Given the description of an element on the screen output the (x, y) to click on. 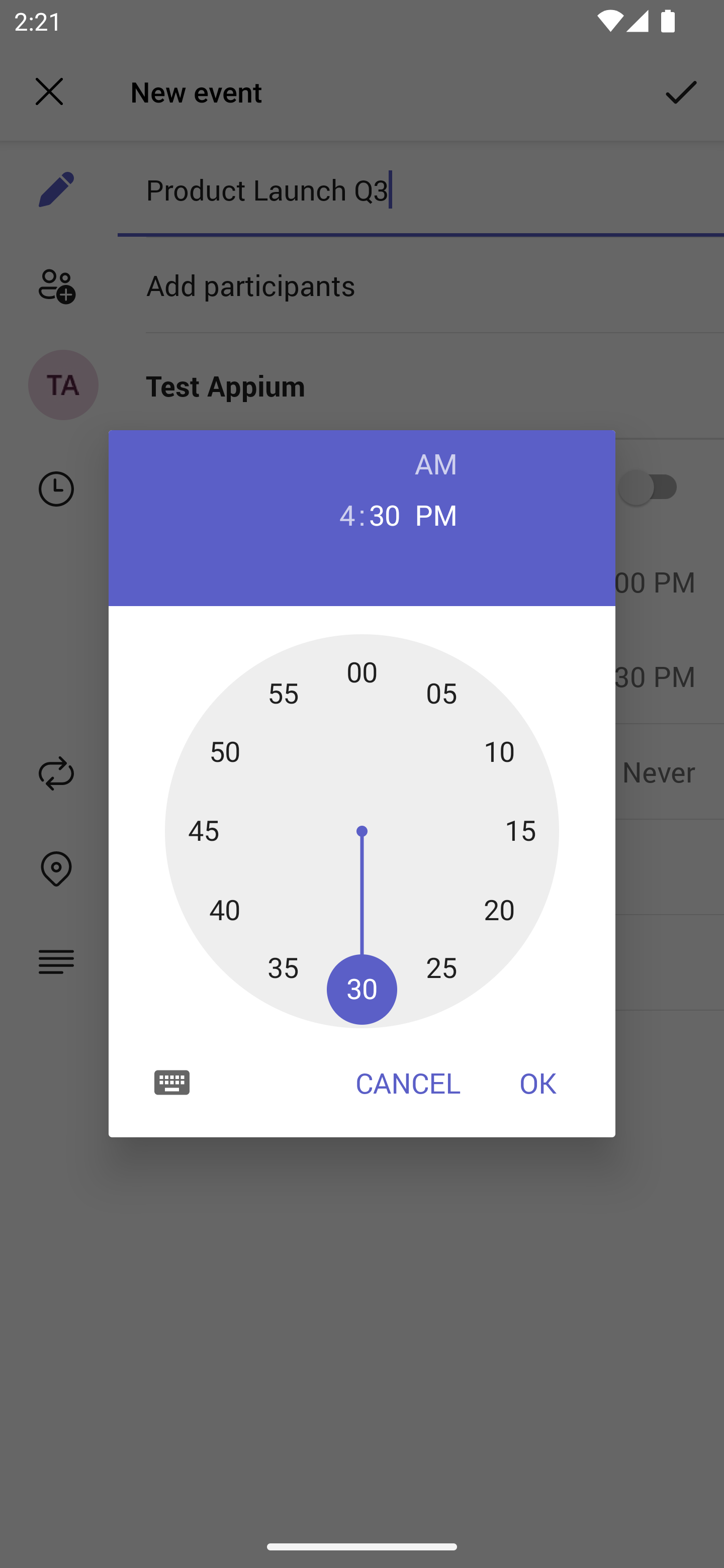
AM (435, 463)
PM (435, 514)
4 (338, 514)
30 (384, 514)
CANCEL (407, 1082)
OK (537, 1082)
Switch to text input mode for the time input. (171, 1081)
